Given the description of an element on the screen output the (x, y) to click on. 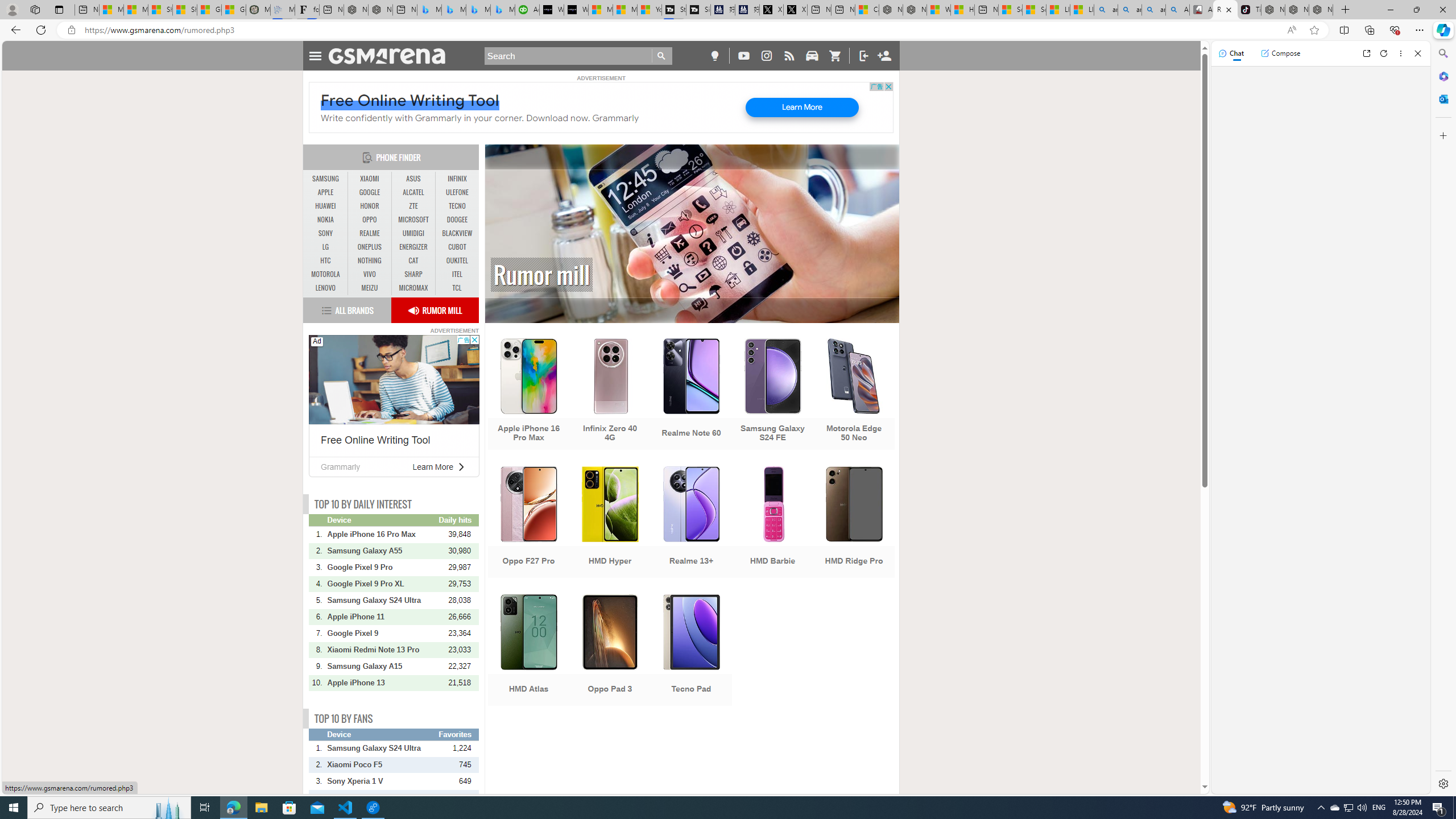
OUKITEL (457, 260)
SHARP (413, 273)
To get missing image descriptions, open the context menu. (528, 375)
SAMSUNG (325, 178)
amazon - Search Images (1153, 9)
Microsoft Bing Travel - Shangri-La Hotel Bangkok (502, 9)
Samsung Galaxy A15 (381, 665)
HTC (325, 260)
Infinix Zero 40 4G (609, 395)
CAT (413, 260)
NOTHING (369, 260)
Motorola Edge 50 Neo (853, 395)
